Given the description of an element on the screen output the (x, y) to click on. 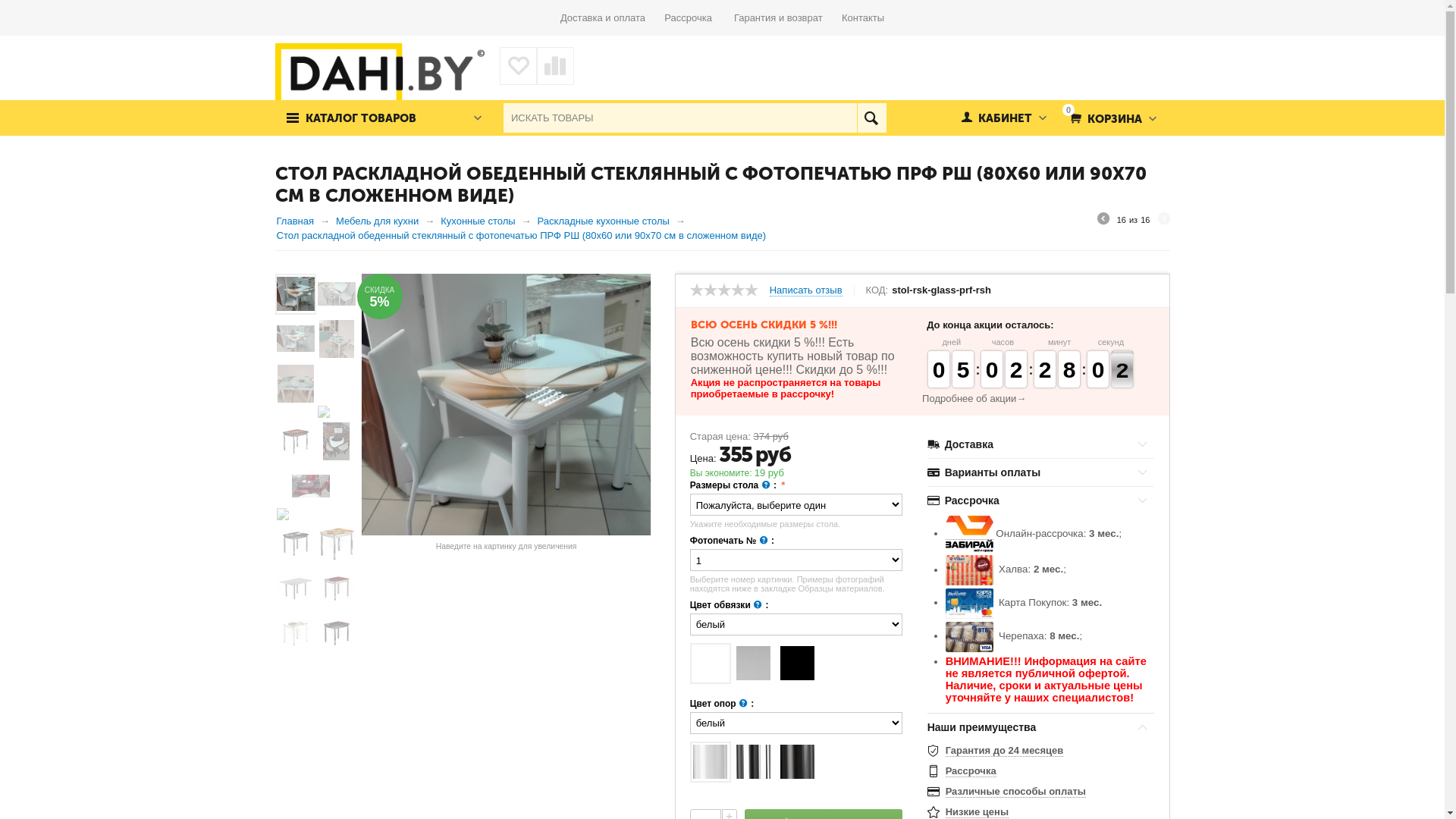
9 Element type: text (1068, 369)
1
1 Element type: text (1044, 369)
9
9 Element type: text (938, 369)
1
1 Element type: text (1015, 369)
2
2 Element type: text (1097, 369)
9
9 Element type: text (991, 369)
4
4 Element type: text (962, 369)
